Given the description of an element on the screen output the (x, y) to click on. 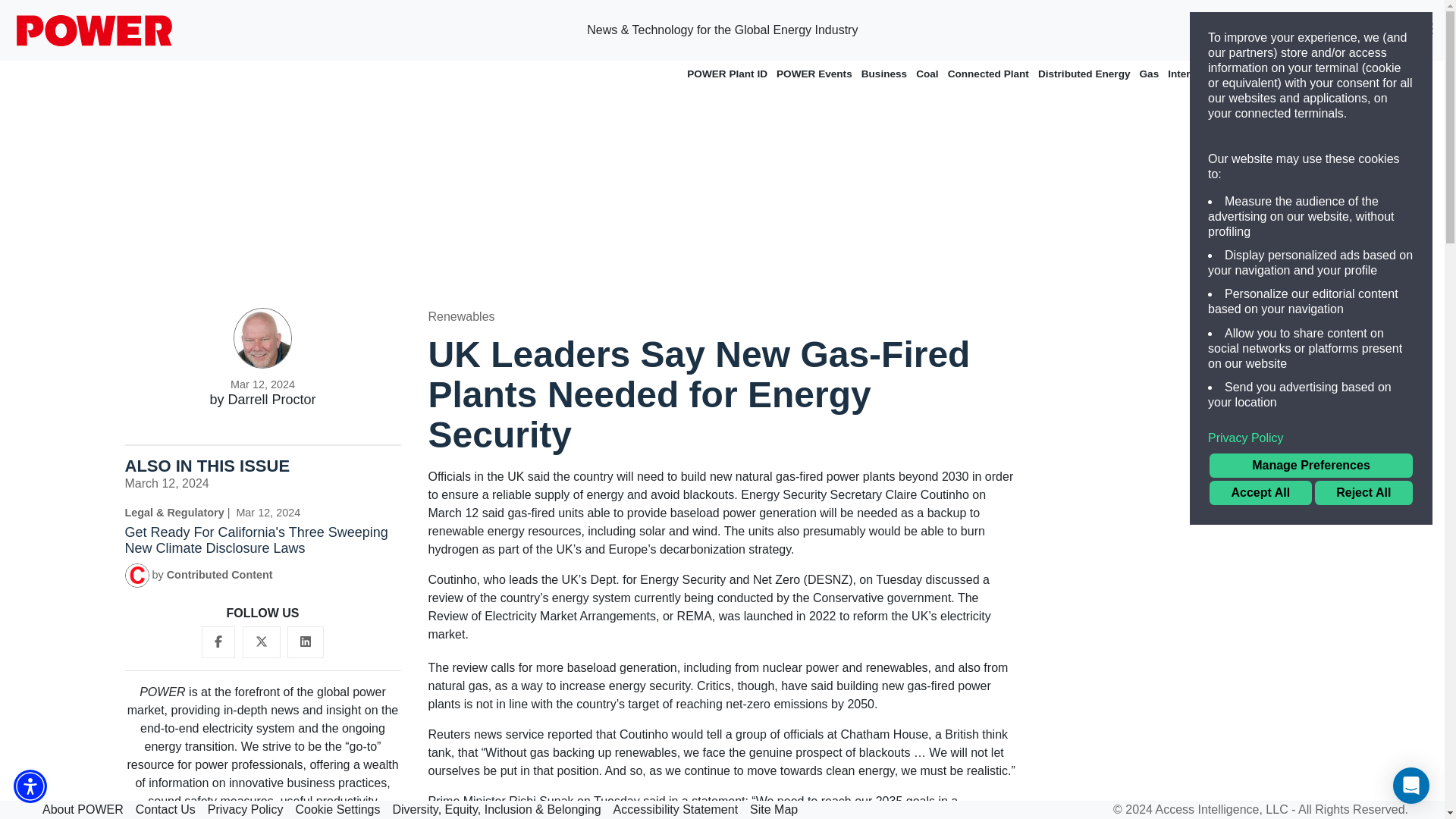
Privacy Policy (1310, 437)
Sign up (1303, 30)
Accept All (1260, 492)
Reject All (1363, 492)
Open Navigation (1425, 30)
Manage Preferences (1310, 465)
3rd party ad content (1181, 402)
Log In (1379, 30)
Accessibility Menu (29, 786)
